Given the description of an element on the screen output the (x, y) to click on. 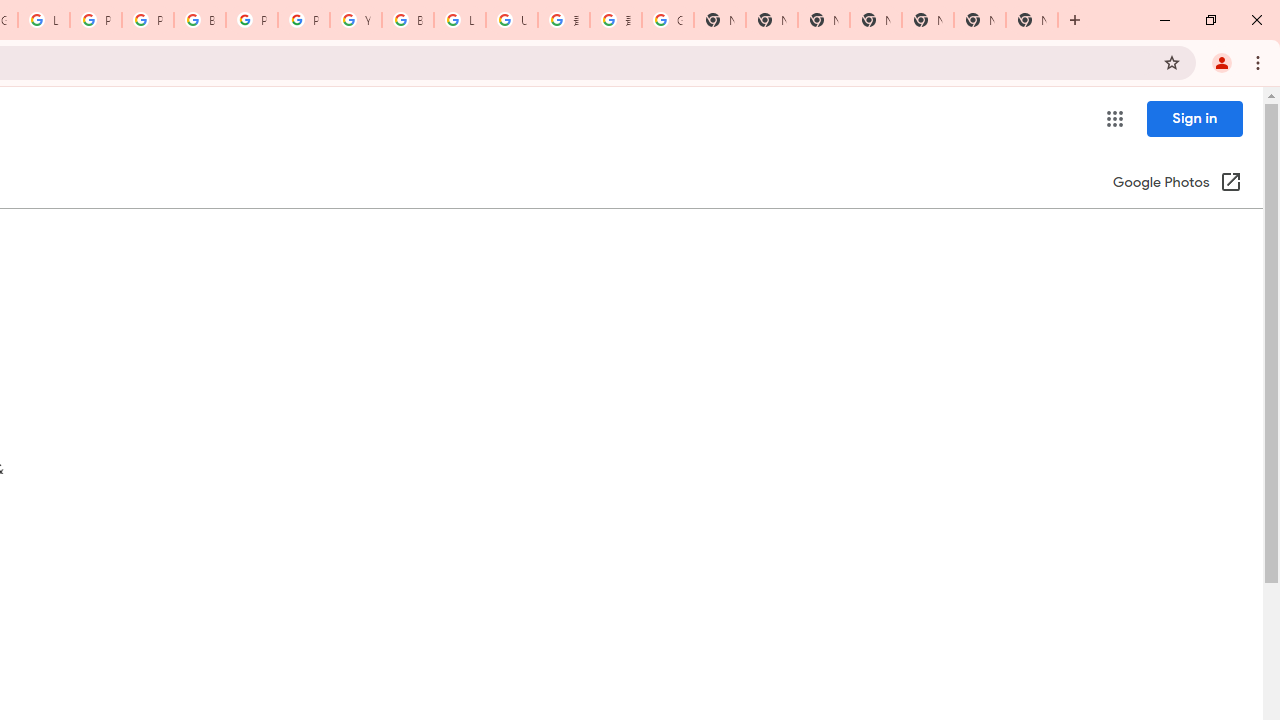
Google Images (667, 20)
New Tab (875, 20)
